Given the description of an element on the screen output the (x, y) to click on. 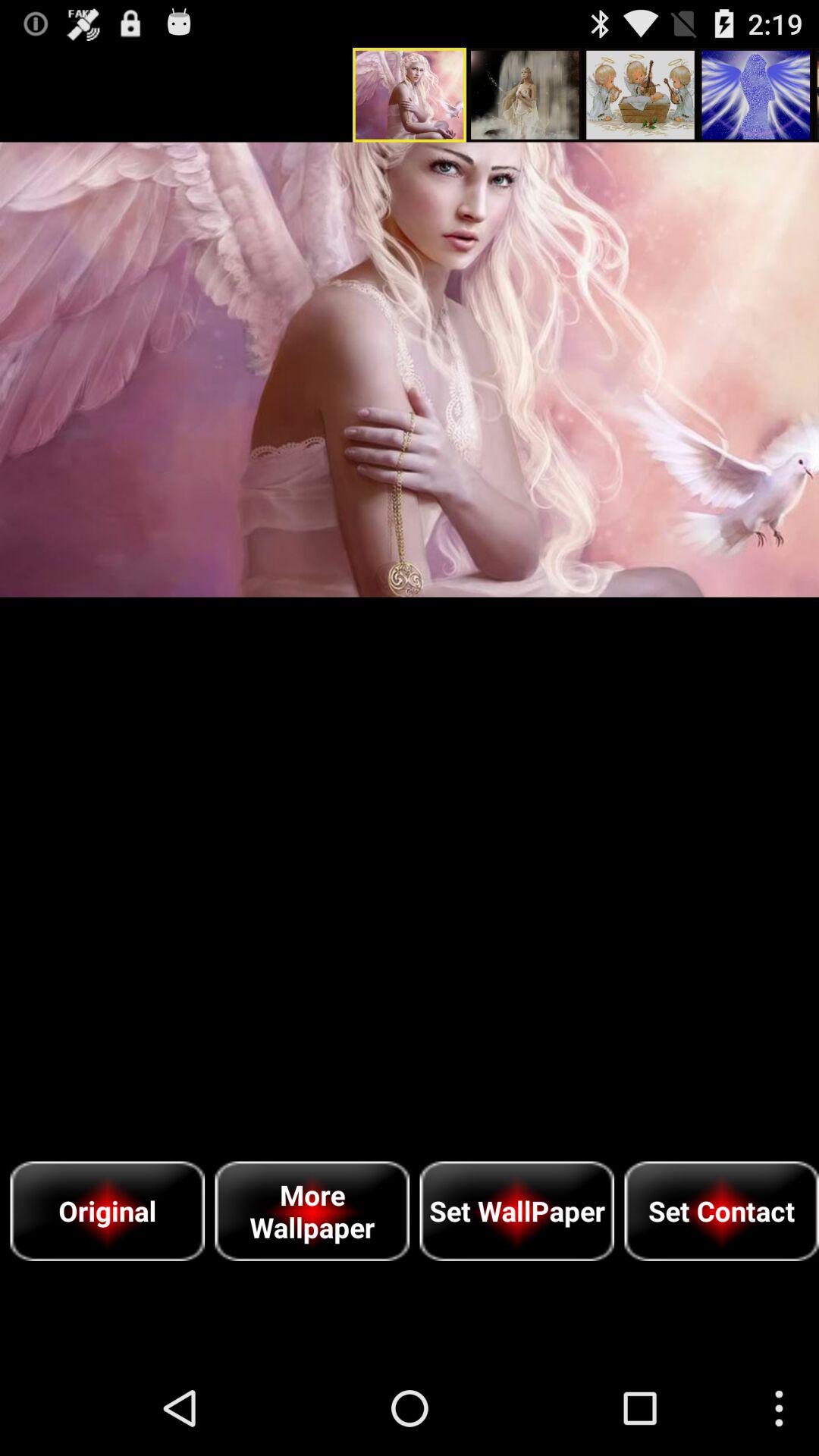
tap icon at the bottom right corner (721, 1210)
